Given the description of an element on the screen output the (x, y) to click on. 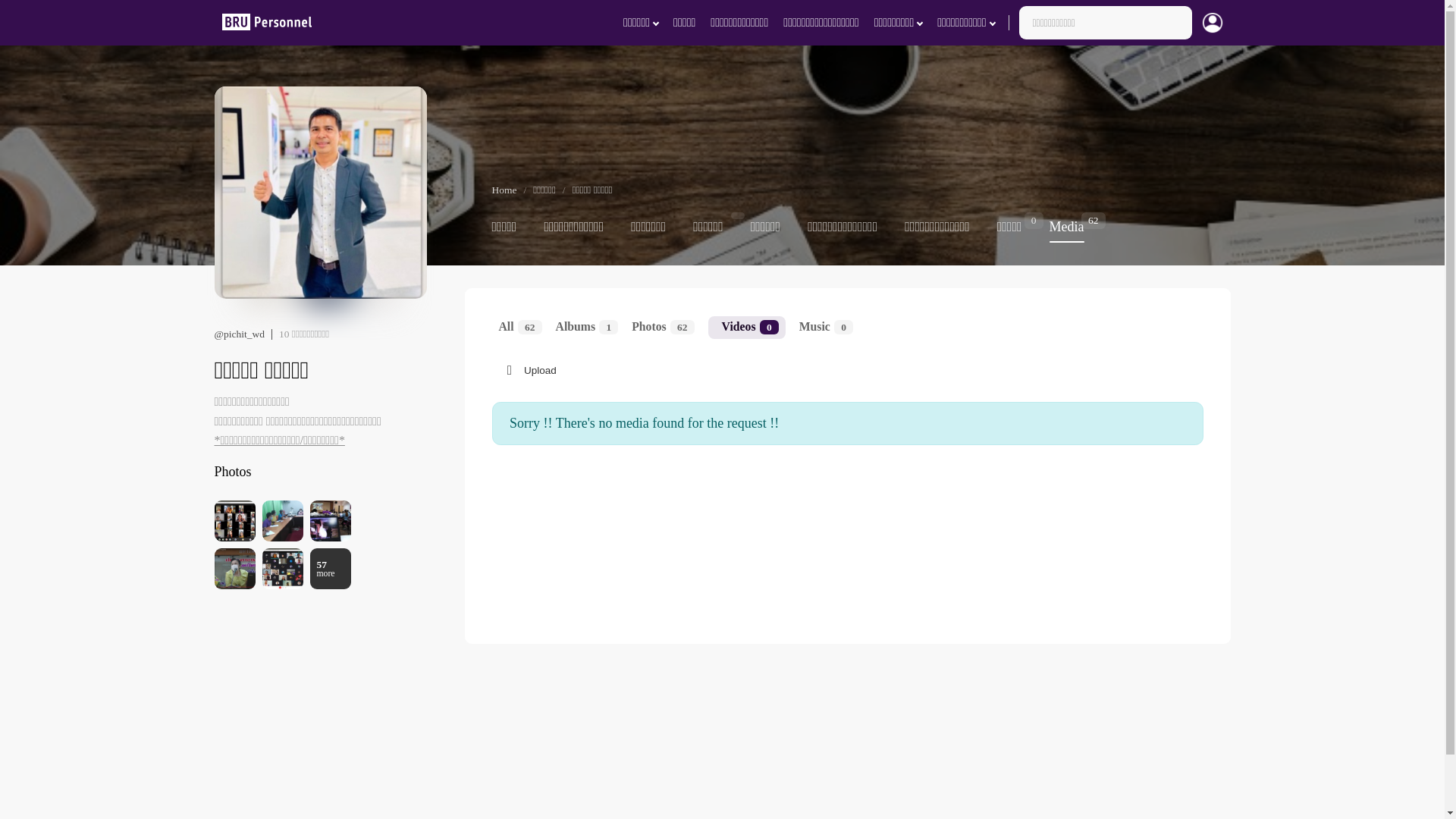
Upload Media (587, 327)
Home (520, 327)
